Given the description of an element on the screen output the (x, y) to click on. 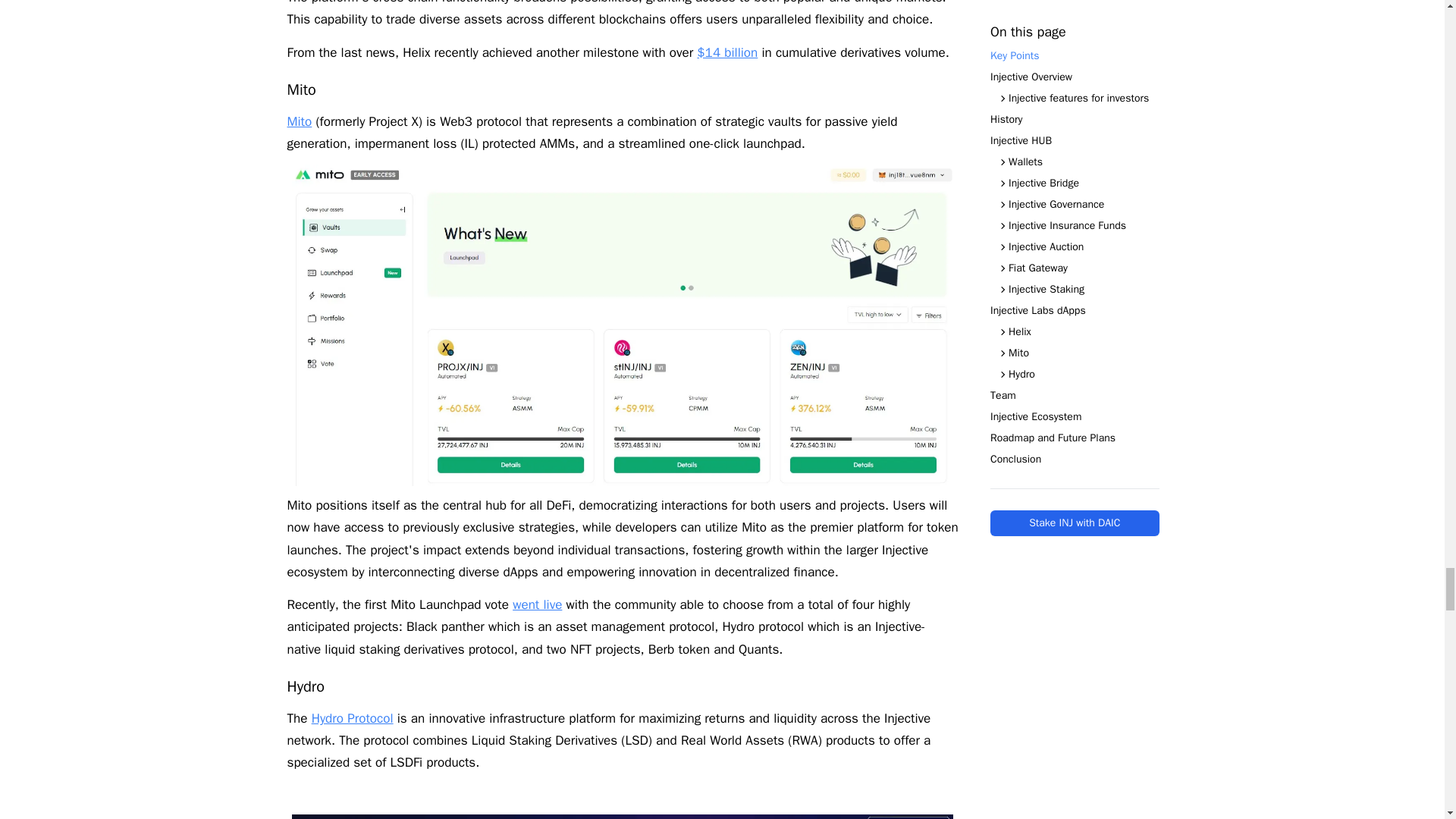
went live (537, 604)
Mito (298, 121)
Hydro Protocol (352, 718)
